Given the description of an element on the screen output the (x, y) to click on. 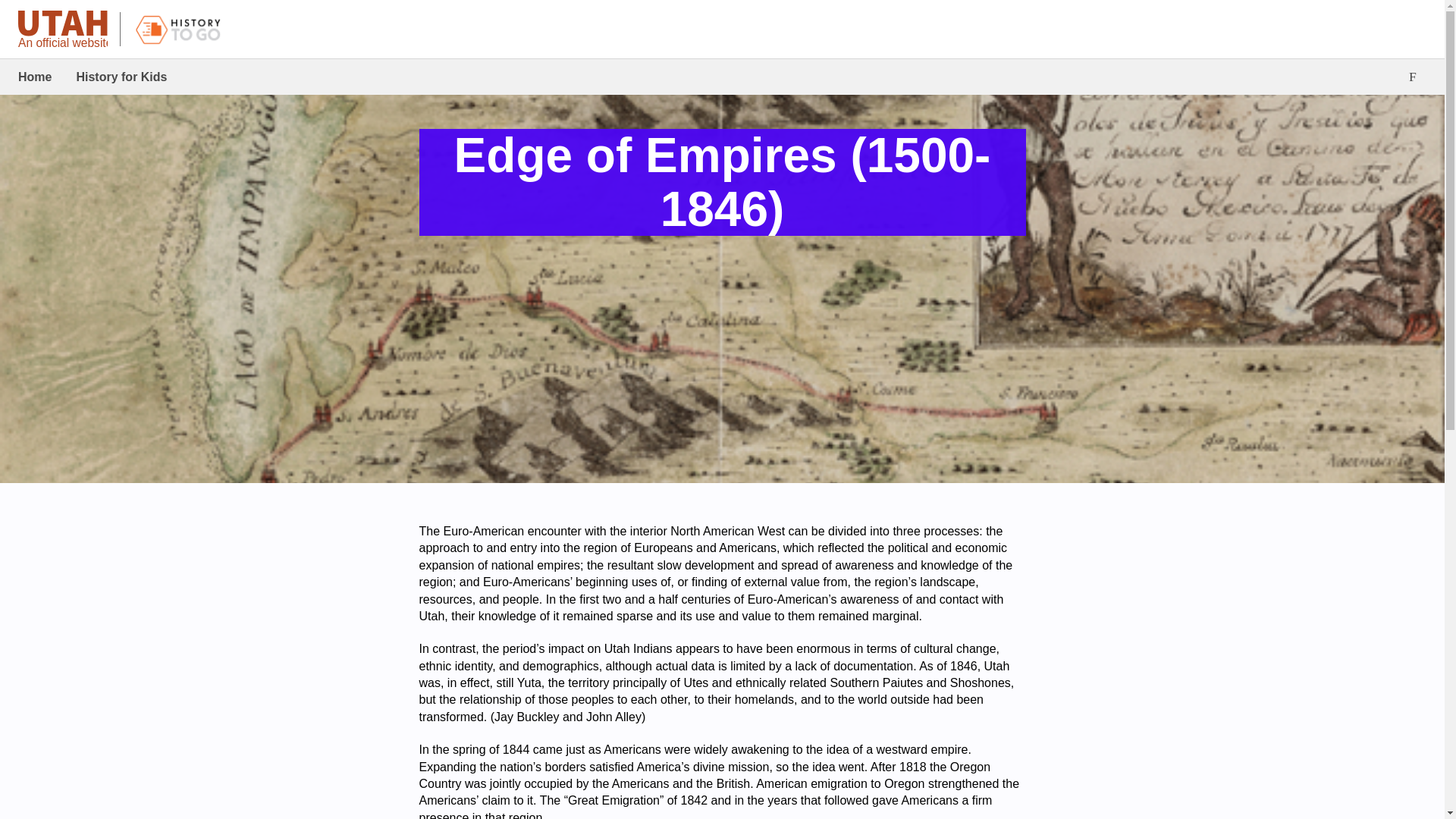
An official website (62, 30)
History for Kids (121, 76)
Home (34, 76)
search (1412, 76)
History to Go (178, 29)
